Given the description of an element on the screen output the (x, y) to click on. 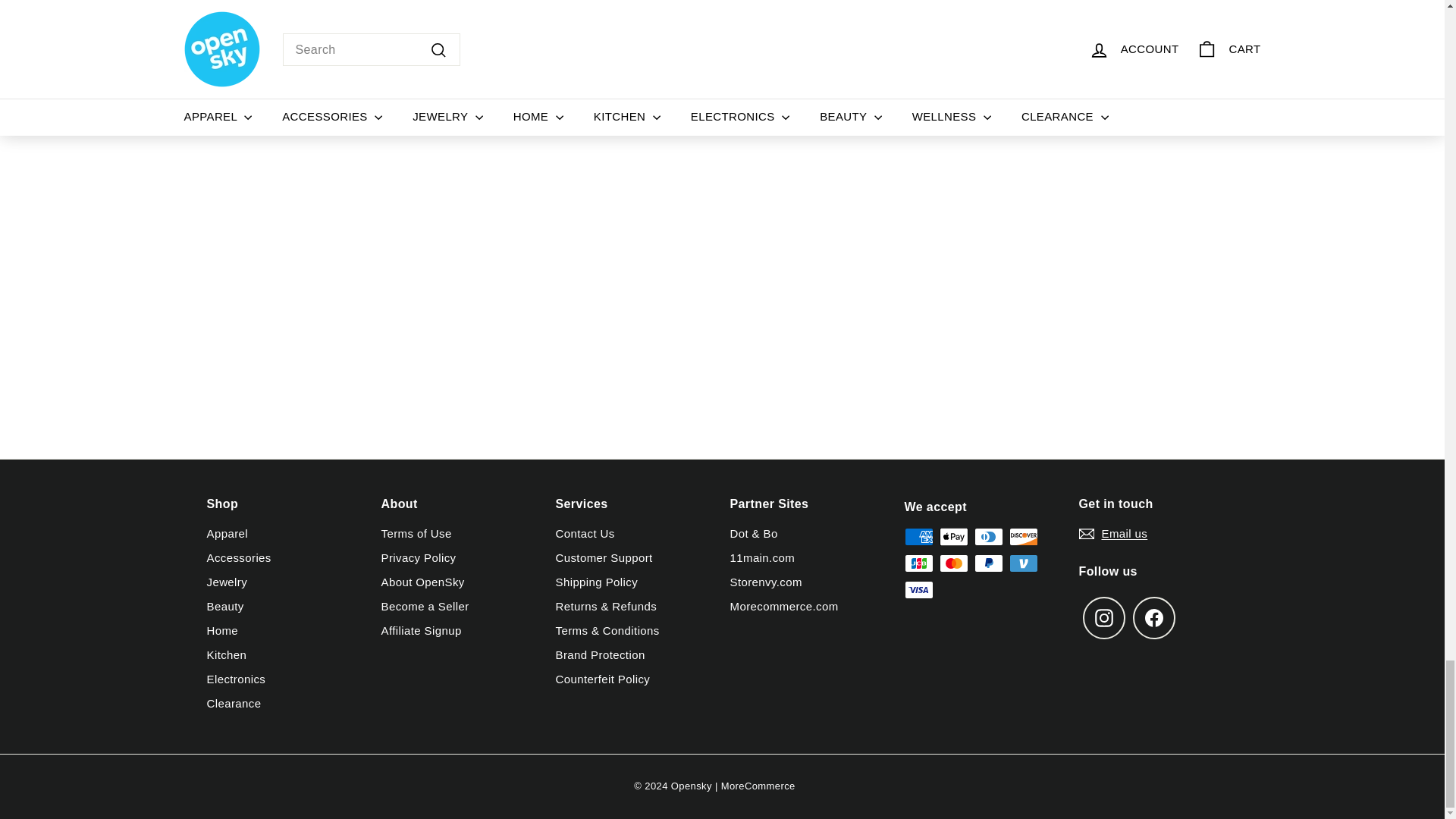
Diners Club (988, 536)
Apple Pay (953, 536)
Opensky on Instagram (1104, 618)
Discover (1022, 536)
American Express (918, 536)
